Given the description of an element on the screen output the (x, y) to click on. 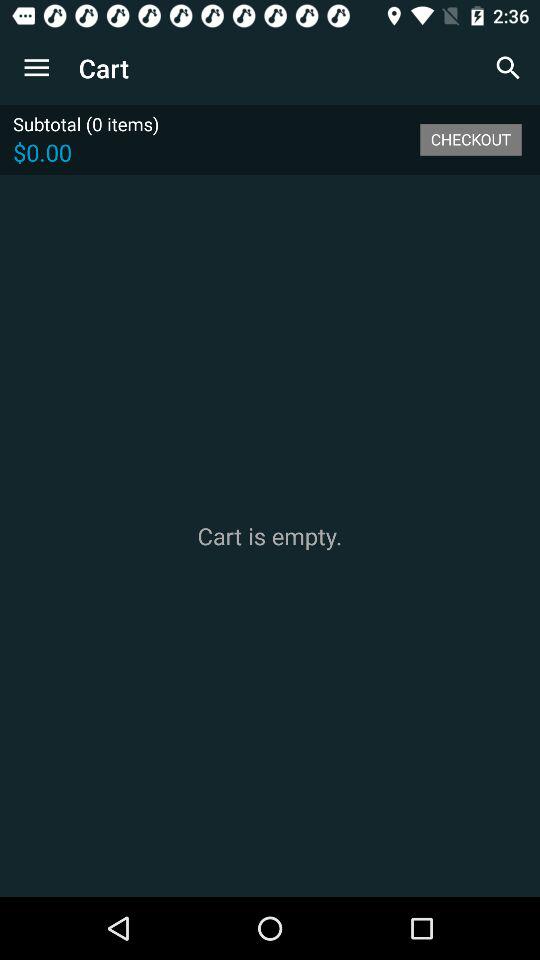
launch the item above checkout (508, 67)
